Given the description of an element on the screen output the (x, y) to click on. 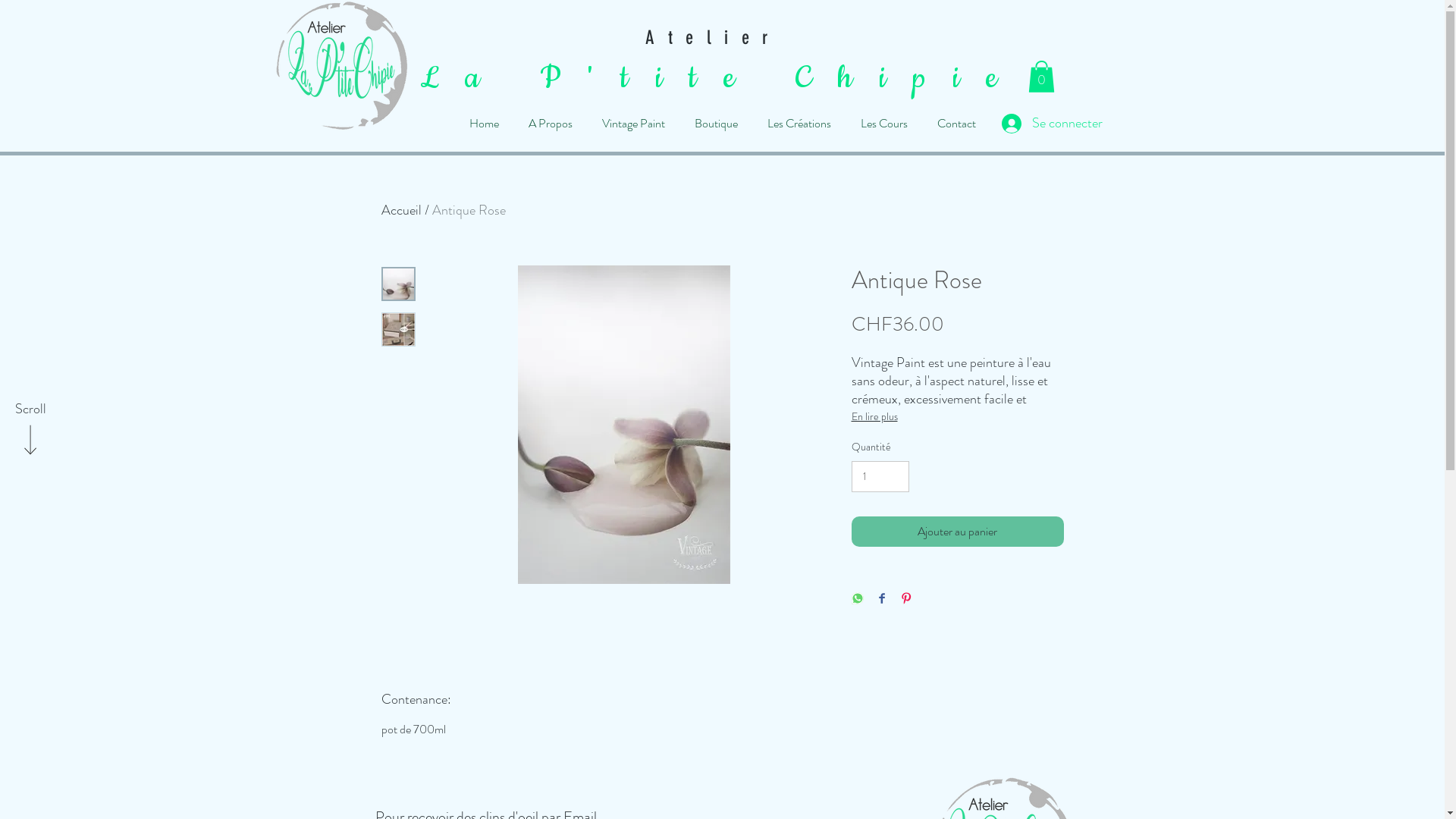
La P'tite Chipie Element type: text (721, 78)
Contact Element type: text (956, 123)
En lire plus Element type: text (956, 415)
Home Element type: text (483, 123)
Scroll Element type: text (30, 409)
Se connecter Element type: text (1035, 123)
0 Element type: text (1041, 76)
Vintage Paint Element type: text (632, 123)
A Propos Element type: text (550, 123)
Les Cours Element type: text (884, 123)
Antique Rose Element type: text (468, 209)
Ajouter au panier Element type: text (956, 531)
Boutique Element type: text (715, 123)
Atelier  Element type: text (721, 37)
Accueil Element type: text (400, 209)
